Given the description of an element on the screen output the (x, y) to click on. 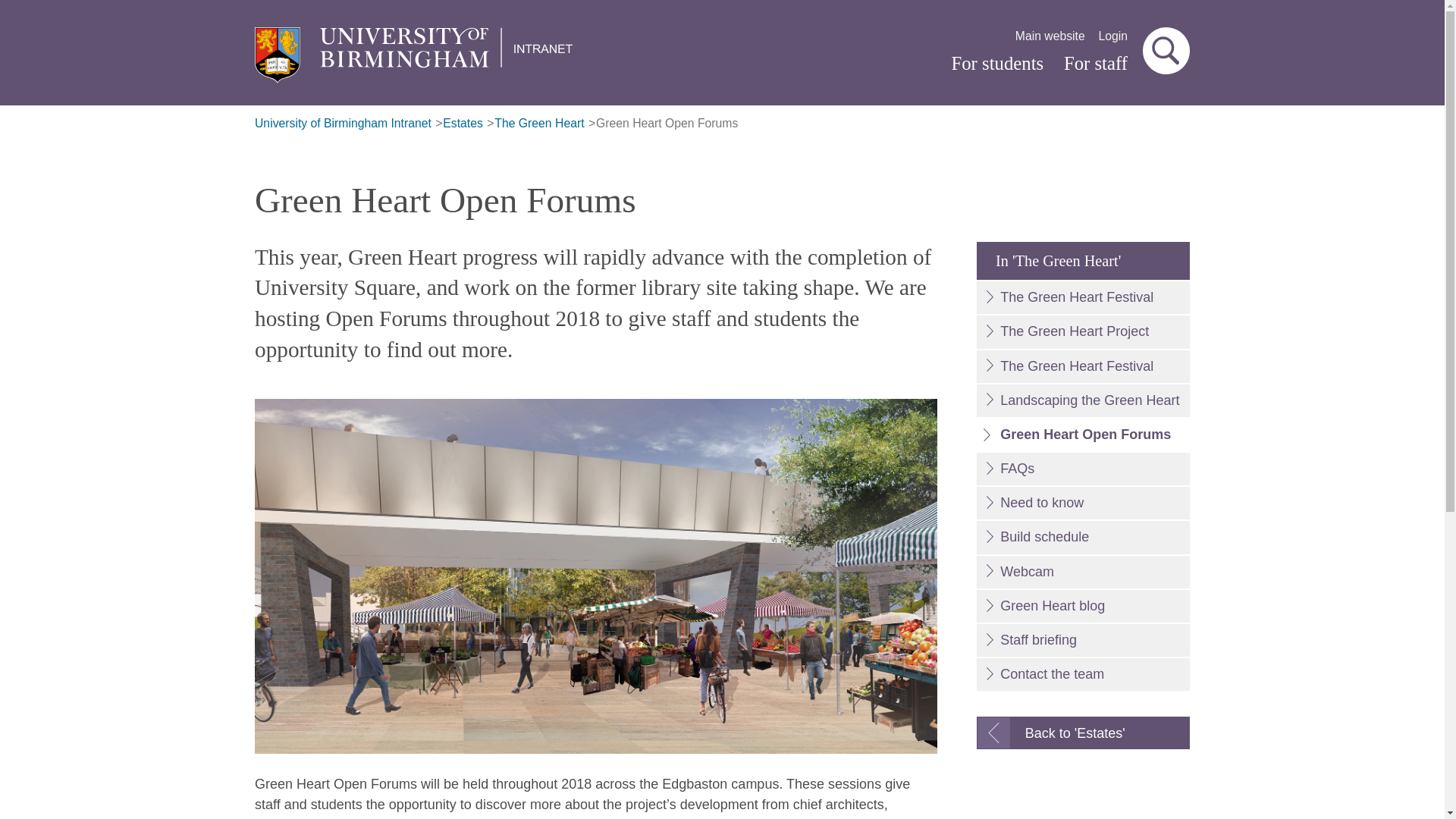
Contact the team (1082, 674)
The Green Heart (539, 123)
Landscaping the Green Heart (1082, 400)
Build schedule (1082, 536)
University of Birmingham Intranet (342, 123)
The Green Heart Project (1082, 331)
For students (996, 63)
Login (1112, 36)
Green Heart Open Forums (1082, 434)
University of Birmingham (420, 55)
